Given the description of an element on the screen output the (x, y) to click on. 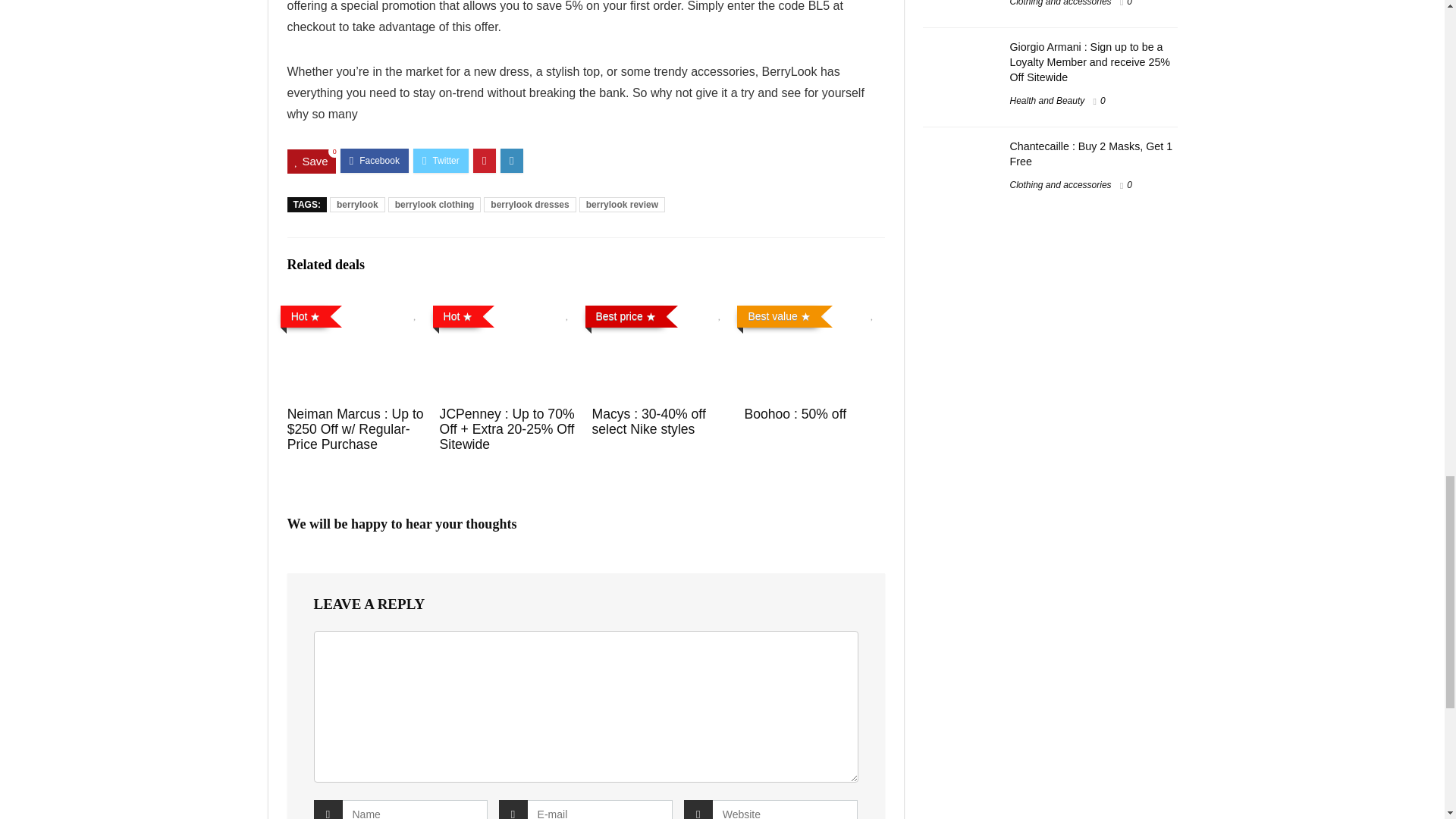
berrylook dresses (529, 204)
berrylook clothing (434, 204)
berrylook (357, 204)
berrylook review (622, 204)
